Given the description of an element on the screen output the (x, y) to click on. 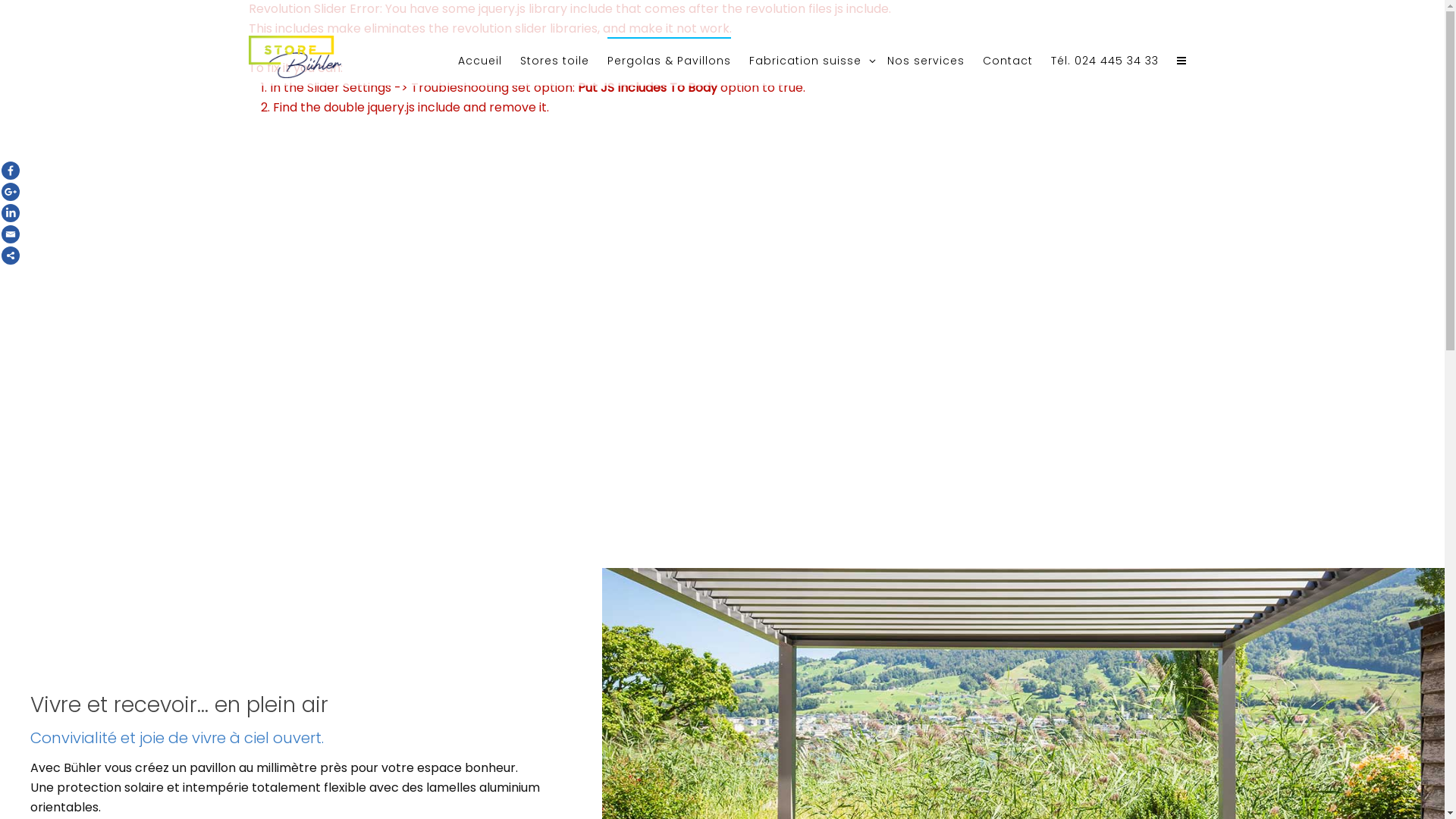
Stores toile Element type: text (554, 60)
Accueil Element type: text (480, 60)
Nos services Element type: text (925, 60)
Google plus Element type: hover (10, 191)
Linkedin Element type: hover (10, 212)
Contact Element type: text (1007, 60)
More Element type: hover (10, 255)
Pergolas & Pavillons Element type: text (668, 60)
Facebook Element type: hover (10, 170)
Email Element type: hover (10, 234)
Fabrication suisse Element type: text (809, 60)
